Given the description of an element on the screen output the (x, y) to click on. 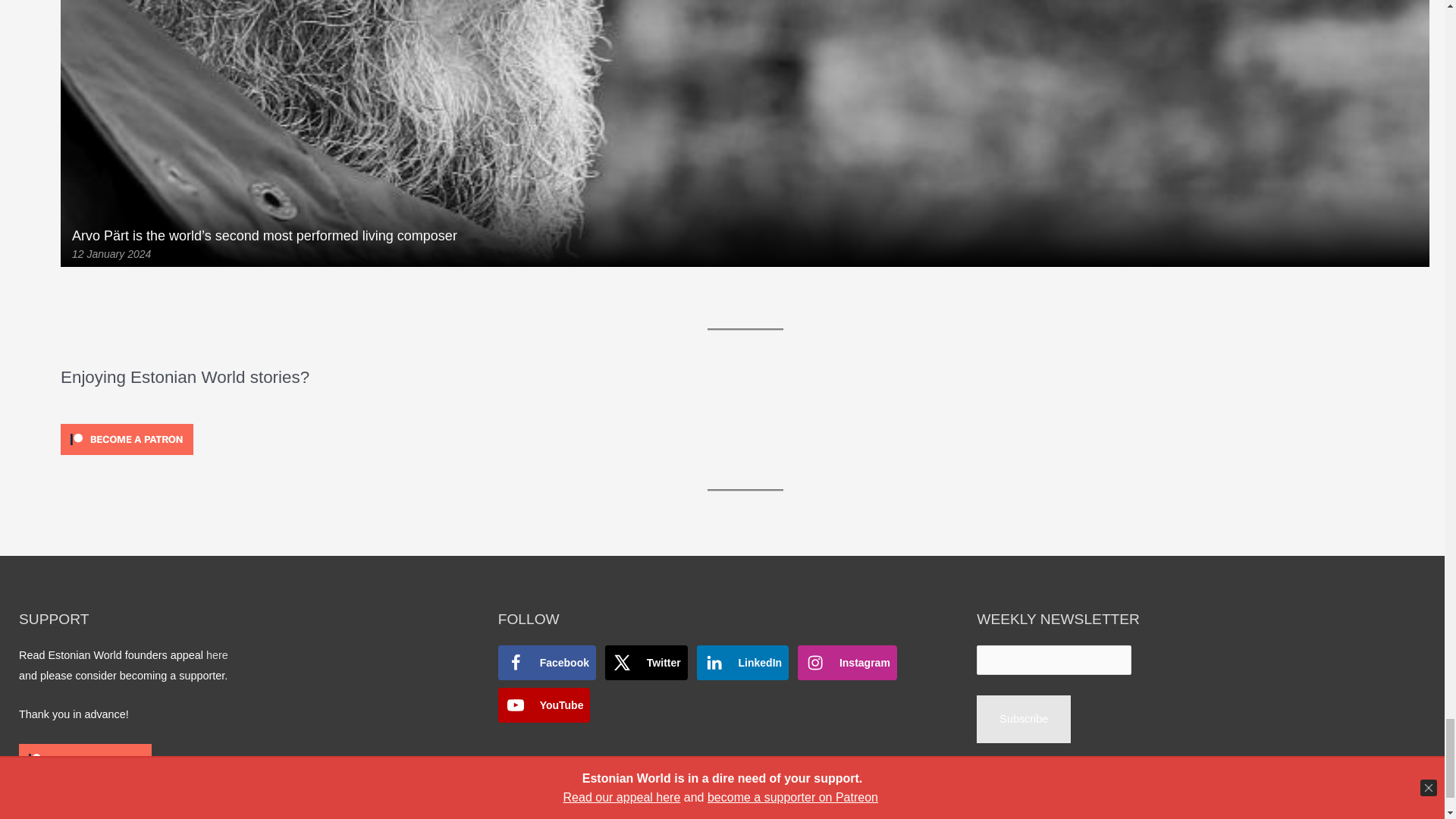
Follow on X (646, 662)
Subscribe (1023, 718)
Follow on Facebook (546, 662)
